Given the description of an element on the screen output the (x, y) to click on. 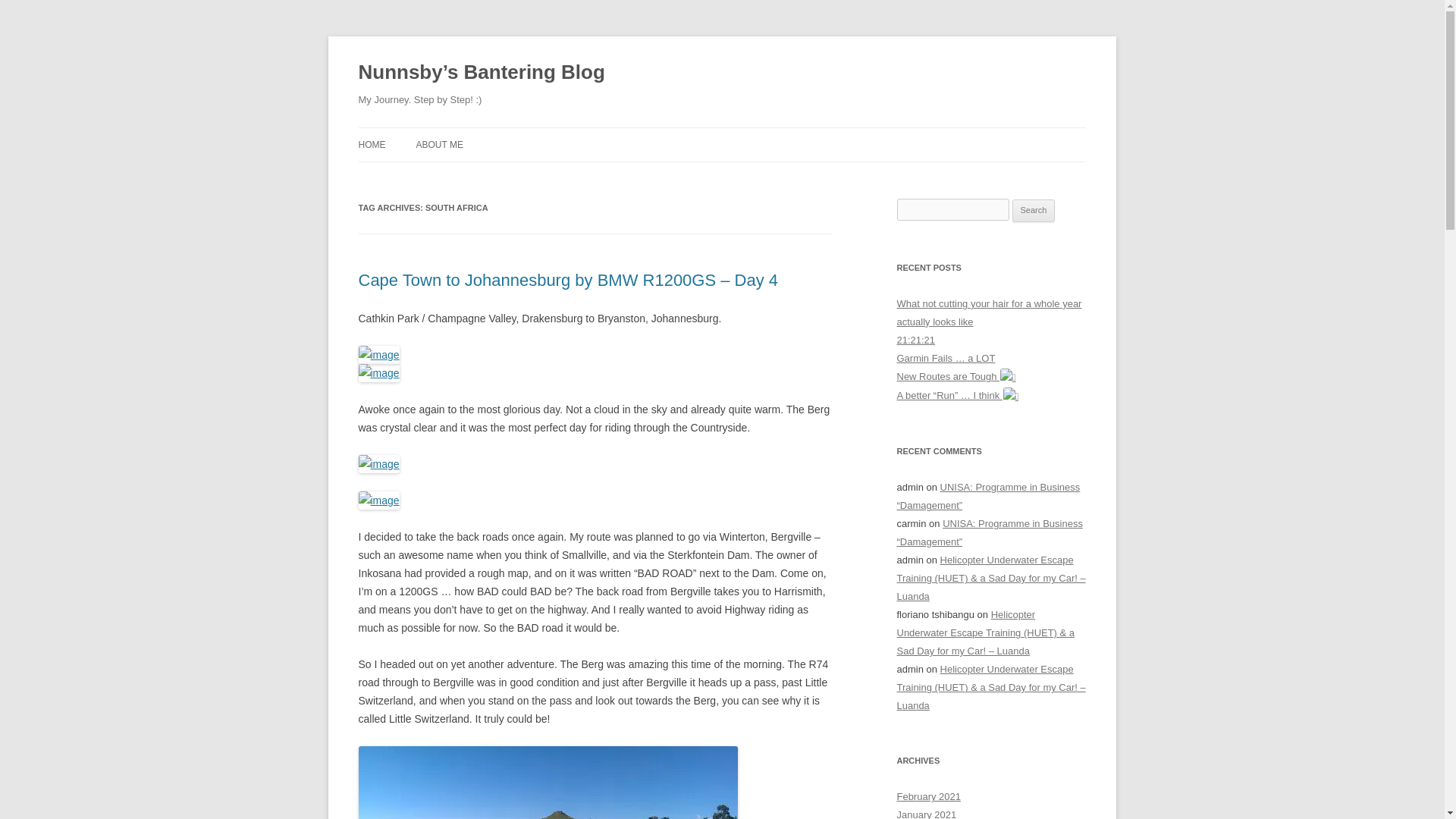
IMAG1035.jpg (547, 782)
IMAG1029.jpg (378, 464)
HOME (371, 144)
Search (1033, 210)
Search (1033, 210)
ABOUT ME (438, 144)
New Routes are Tough (956, 376)
21:21:21 (915, 339)
IMAG1031.jpg (378, 500)
